Given the description of an element on the screen output the (x, y) to click on. 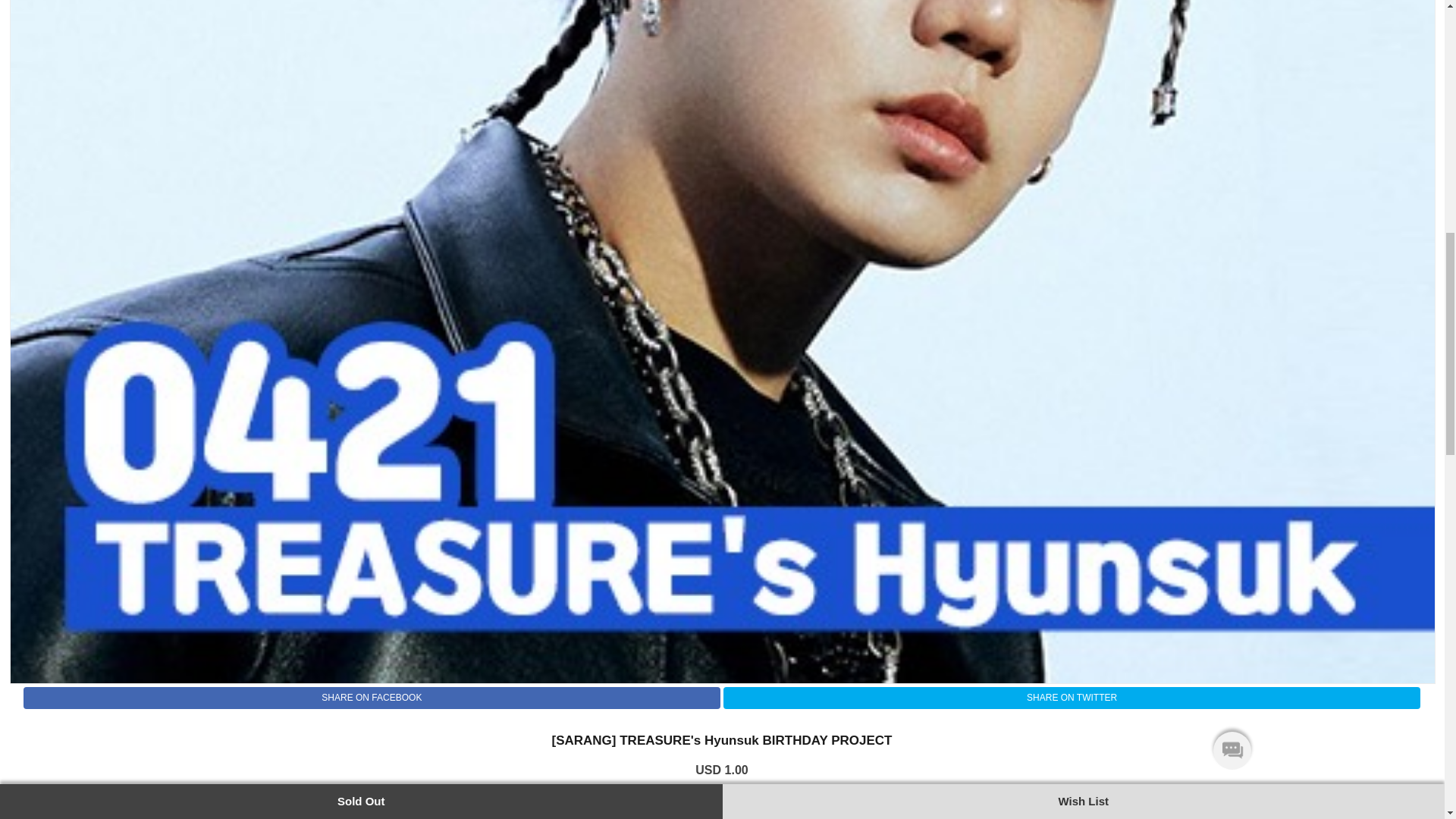
SHARE ON TWITTER (1072, 698)
SHARE ON FACEBOOK (371, 698)
